Given the description of an element on the screen output the (x, y) to click on. 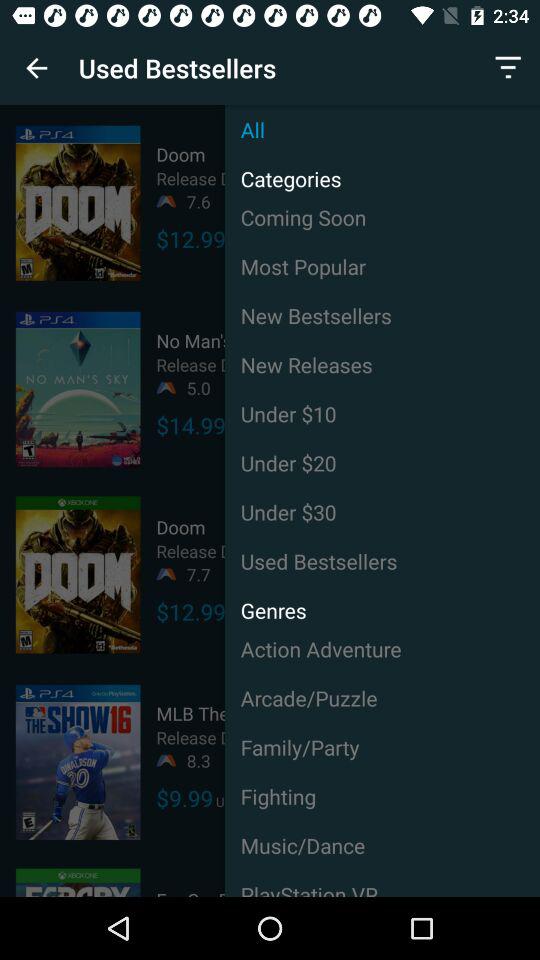
tap arcade/puzzle icon (382, 698)
